Given the description of an element on the screen output the (x, y) to click on. 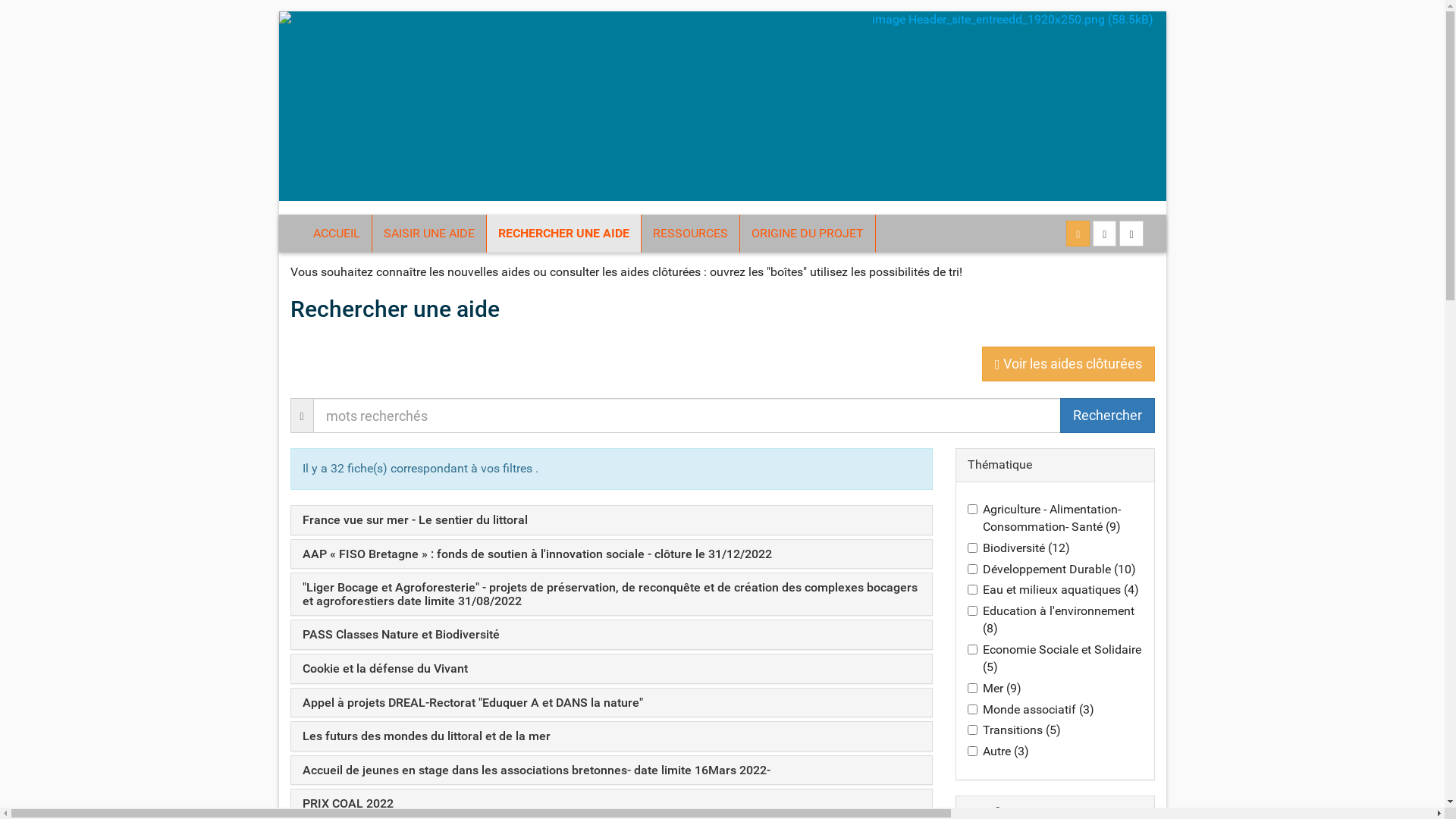
Abonnement au flux RSS du site Element type: hover (1077, 233)
ACCUEIL Element type: text (336, 233)
ORIGINE DU PROJET Element type: text (807, 233)
RESSOURCES Element type: text (690, 233)
Rechercher Element type: text (1104, 233)
SAISIR UNE AIDE Element type: text (428, 233)
Rechercher Element type: text (1107, 415)
RECHERCHER UNE AIDE Element type: text (563, 233)
